Given the description of an element on the screen output the (x, y) to click on. 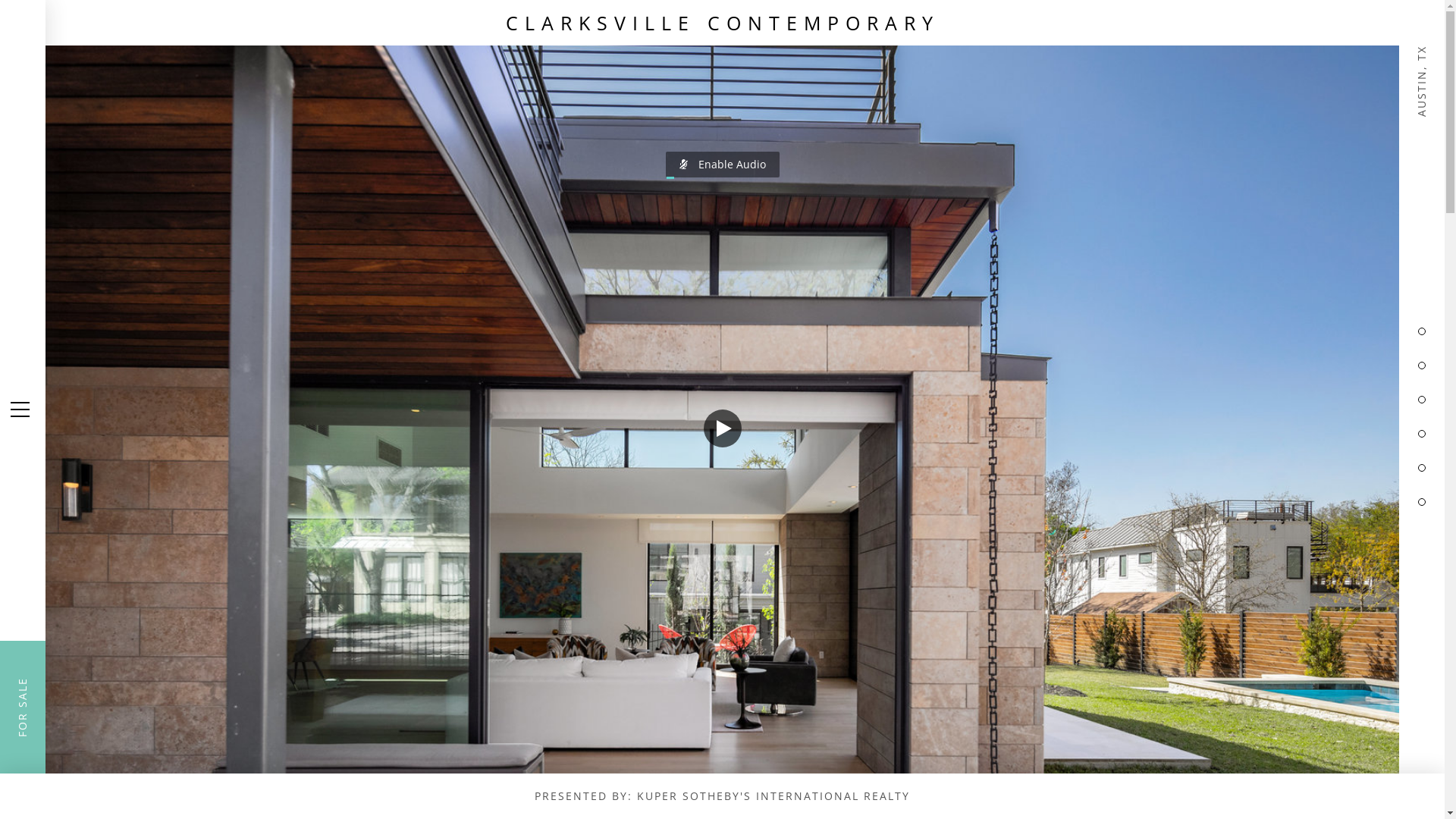
Listing Video Element type: hover (722, 409)
